Given the description of an element on the screen output the (x, y) to click on. 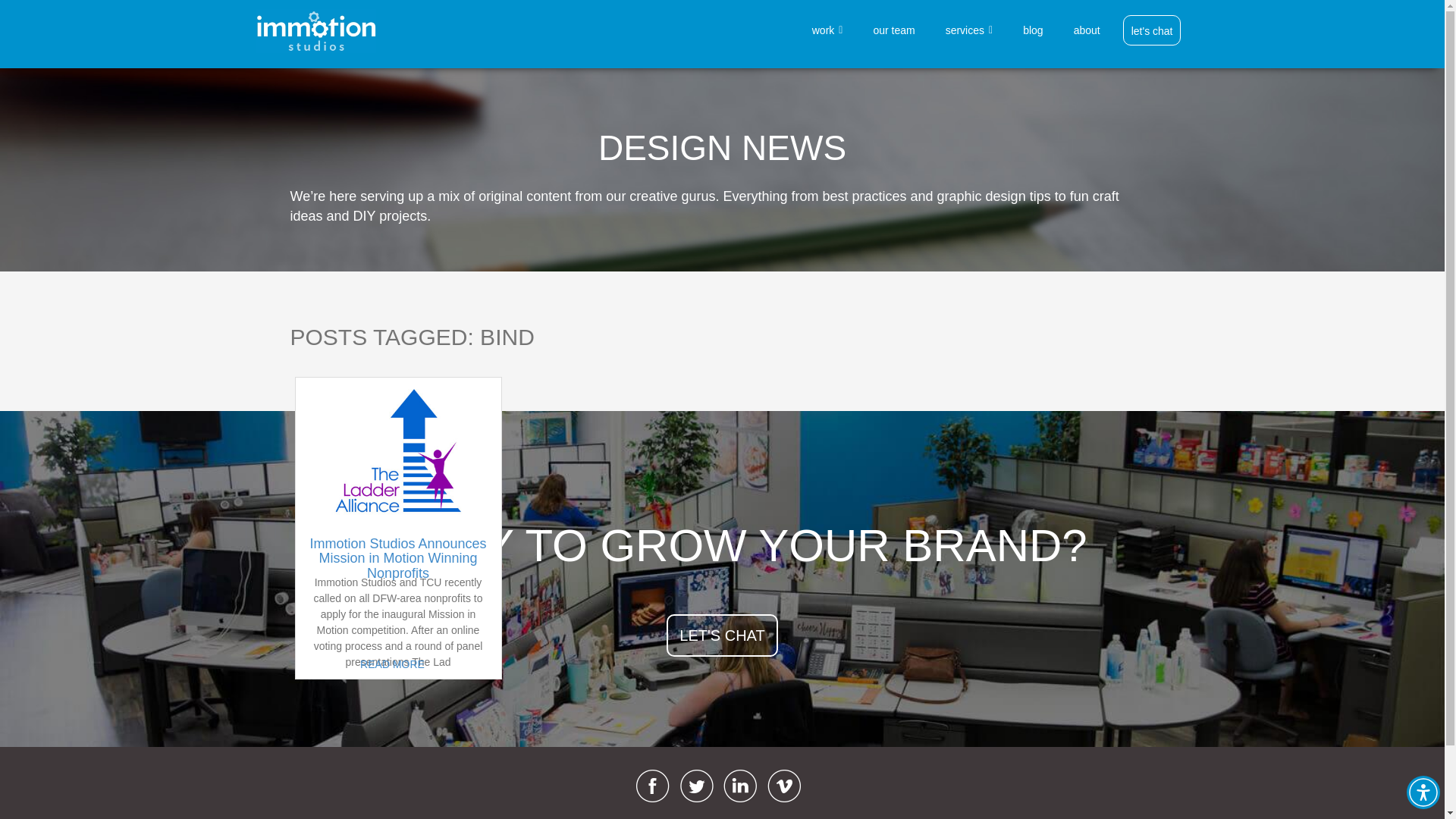
READ MORE (392, 664)
work (827, 30)
LET'S CHAT (721, 635)
Where Strategy Powers Creative Brilliance (315, 31)
let's chat (1151, 30)
services (968, 30)
blog (1031, 30)
Accessibility Menu (1422, 792)
our team (892, 30)
about (1086, 30)
